Given the description of an element on the screen output the (x, y) to click on. 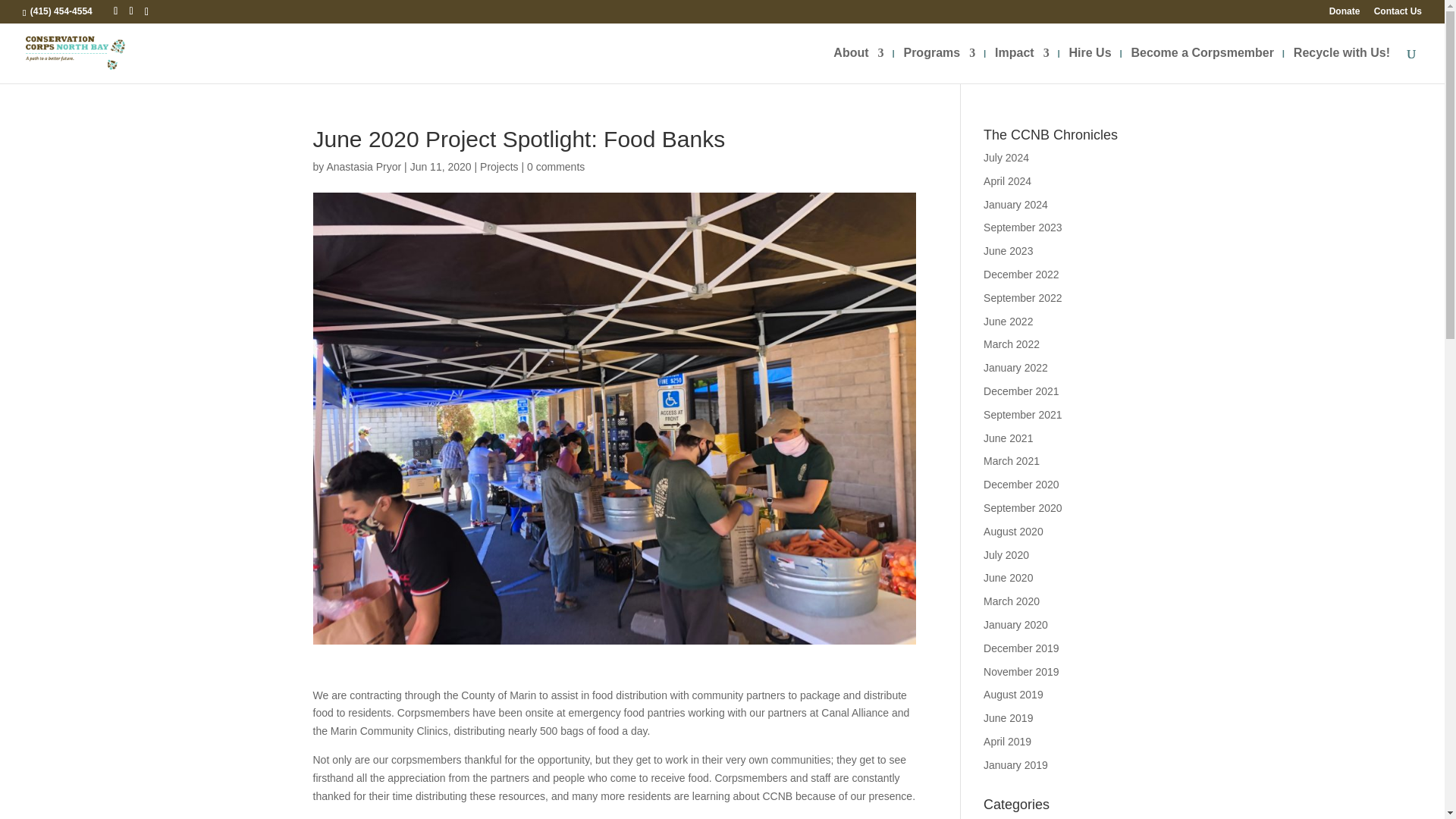
0 comments (556, 166)
April 2024 (1007, 181)
Anastasia Pryor (363, 166)
January 2024 (1016, 204)
Posts by Anastasia Pryor (363, 166)
July 2024 (1006, 157)
June 2023 (1008, 250)
Become a Corpsmember (1202, 65)
Donate (1344, 14)
September 2022 (1023, 297)
